Given the description of an element on the screen output the (x, y) to click on. 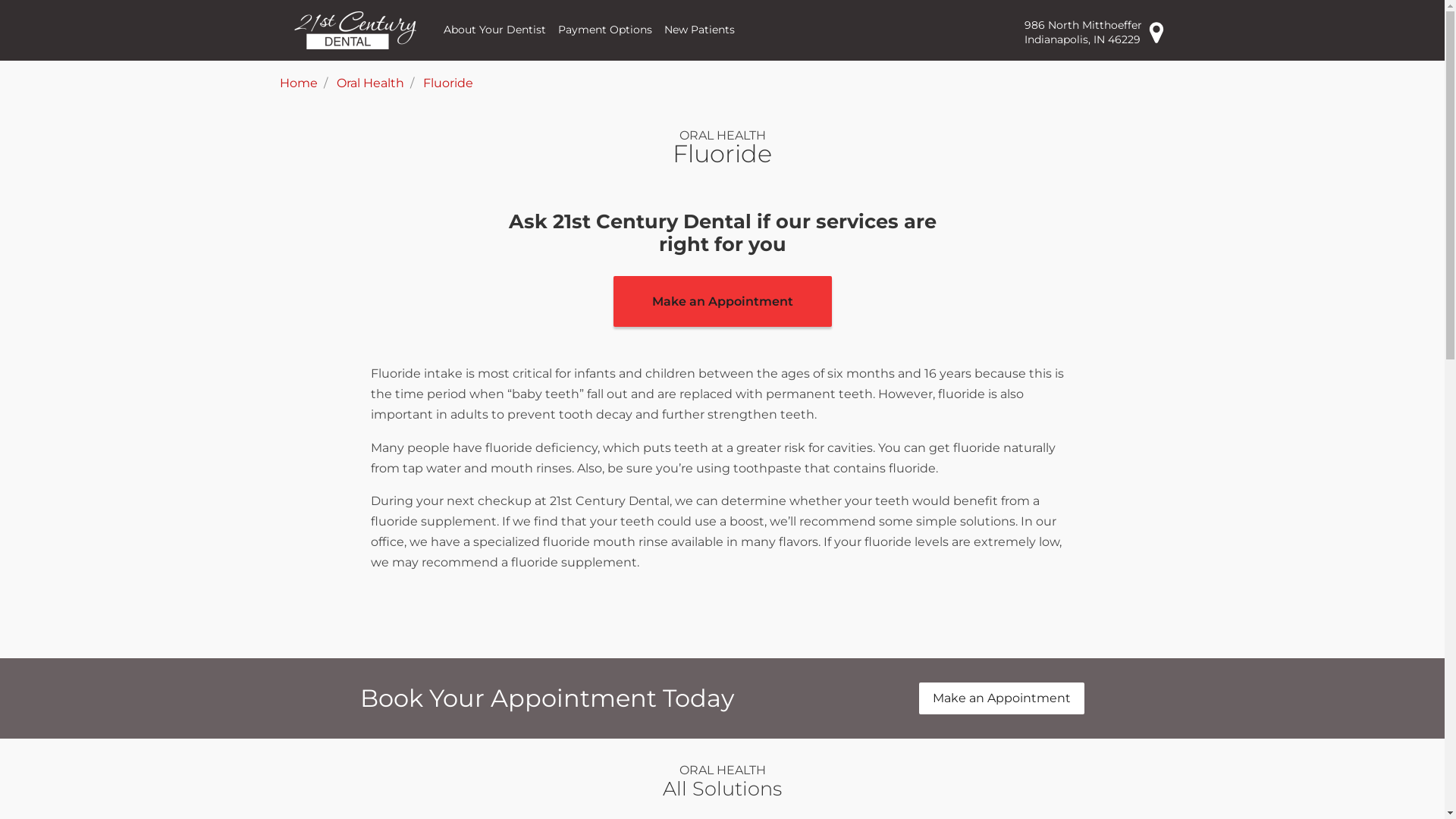
Fluoride Element type: text (448, 82)
Home Element type: text (297, 82)
986 North Mitthoeffer
Indianapolis, IN 46229 Element type: text (1093, 31)
Oral Health Element type: text (370, 82)
New Patients Element type: text (699, 29)
About Your Dentist Element type: text (493, 29)
Payment Options Element type: text (605, 29)
Make an Appointment Element type: text (721, 301)
Make an Appointment Element type: text (1001, 698)
